Given the description of an element on the screen output the (x, y) to click on. 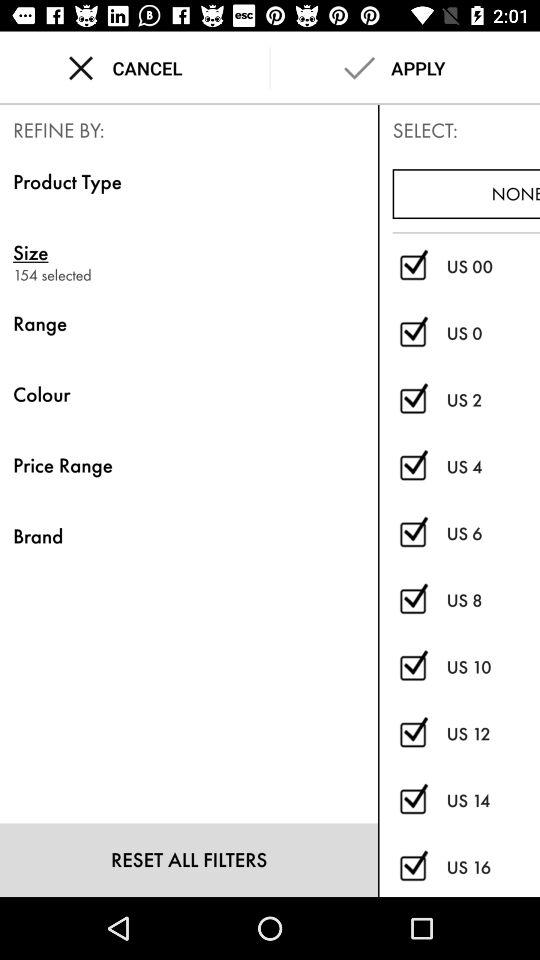
launch icon below the us 14 item (493, 867)
